Given the description of an element on the screen output the (x, y) to click on. 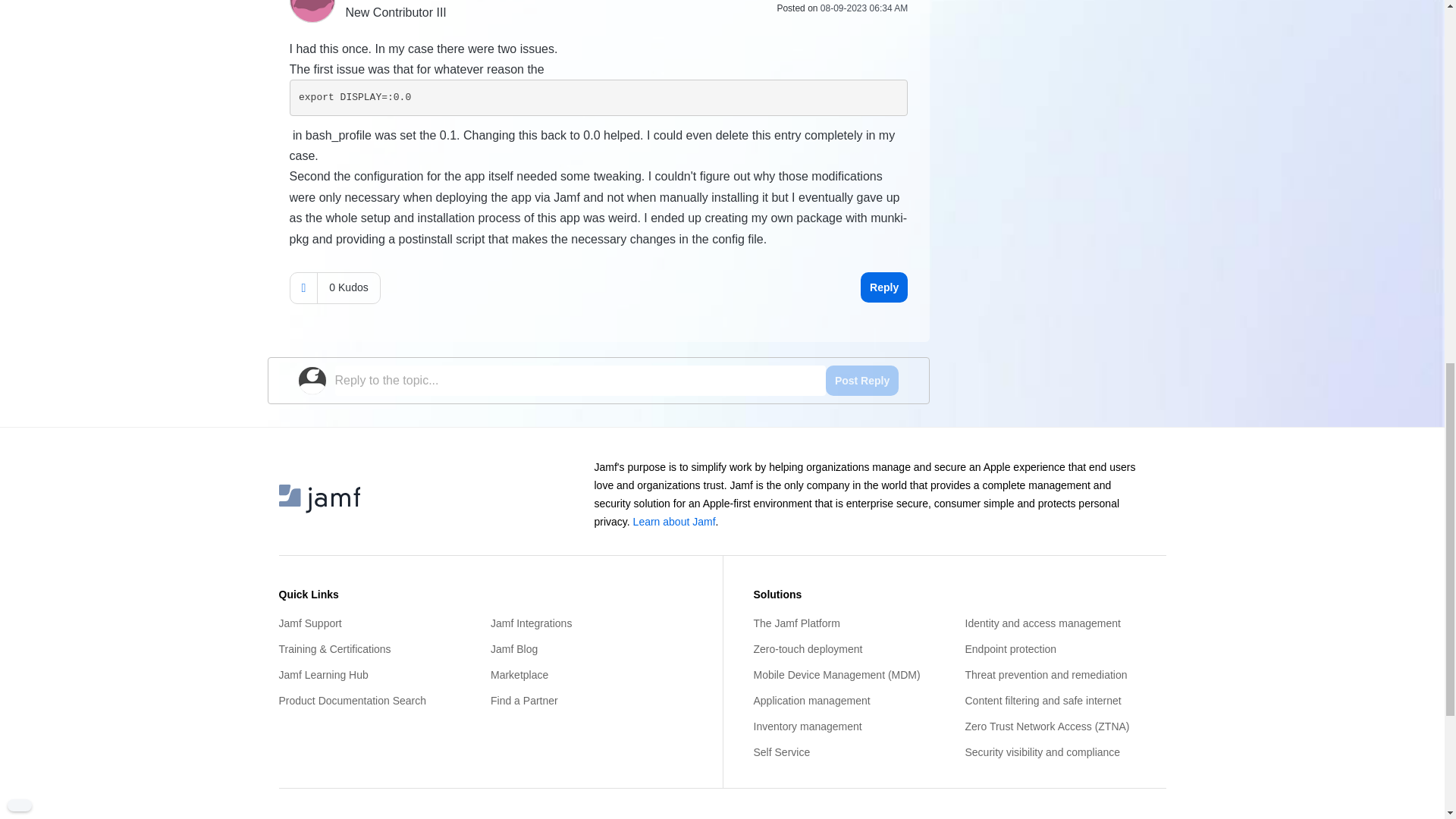
Reply (883, 286)
Post Reply (861, 380)
The total number of kudos this post has received. (347, 287)
Click here to give kudos to this post. (303, 287)
